Given the description of an element on the screen output the (x, y) to click on. 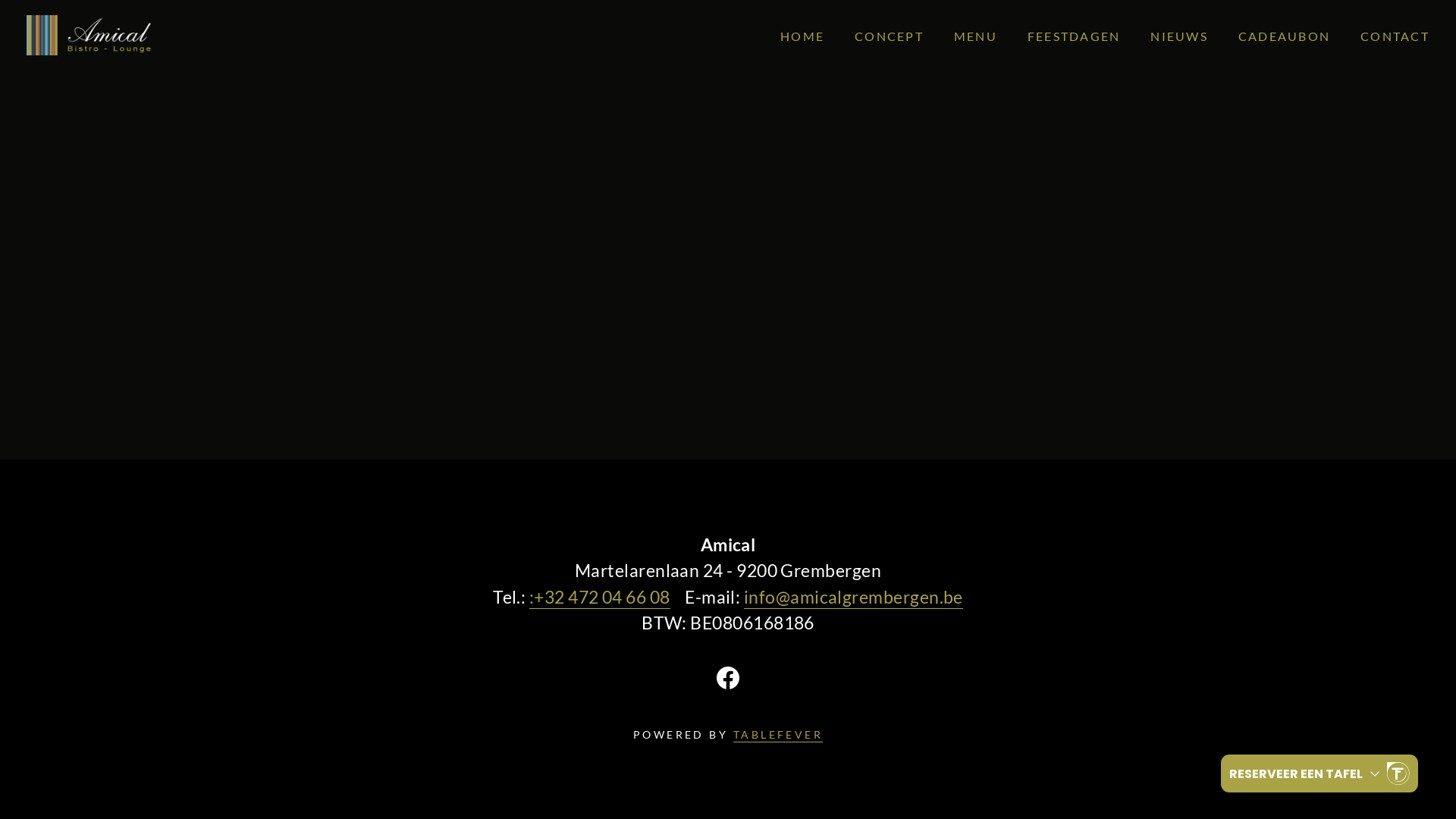
:+32 472 04 66 08 Element type: text (599, 597)
TABLEFEVER Element type: text (778, 735)
CADEAUBON Element type: text (1284, 35)
info@amicalgrembergen.be Element type: text (853, 597)
HOME Element type: text (802, 35)
FEESTDAGEN Element type: text (1073, 35)
NIEUWS Element type: text (1179, 35)
MENU Element type: text (975, 35)
CONCEPT Element type: text (888, 35)
CONTACT Element type: text (1394, 35)
